Given the description of an element on the screen output the (x, y) to click on. 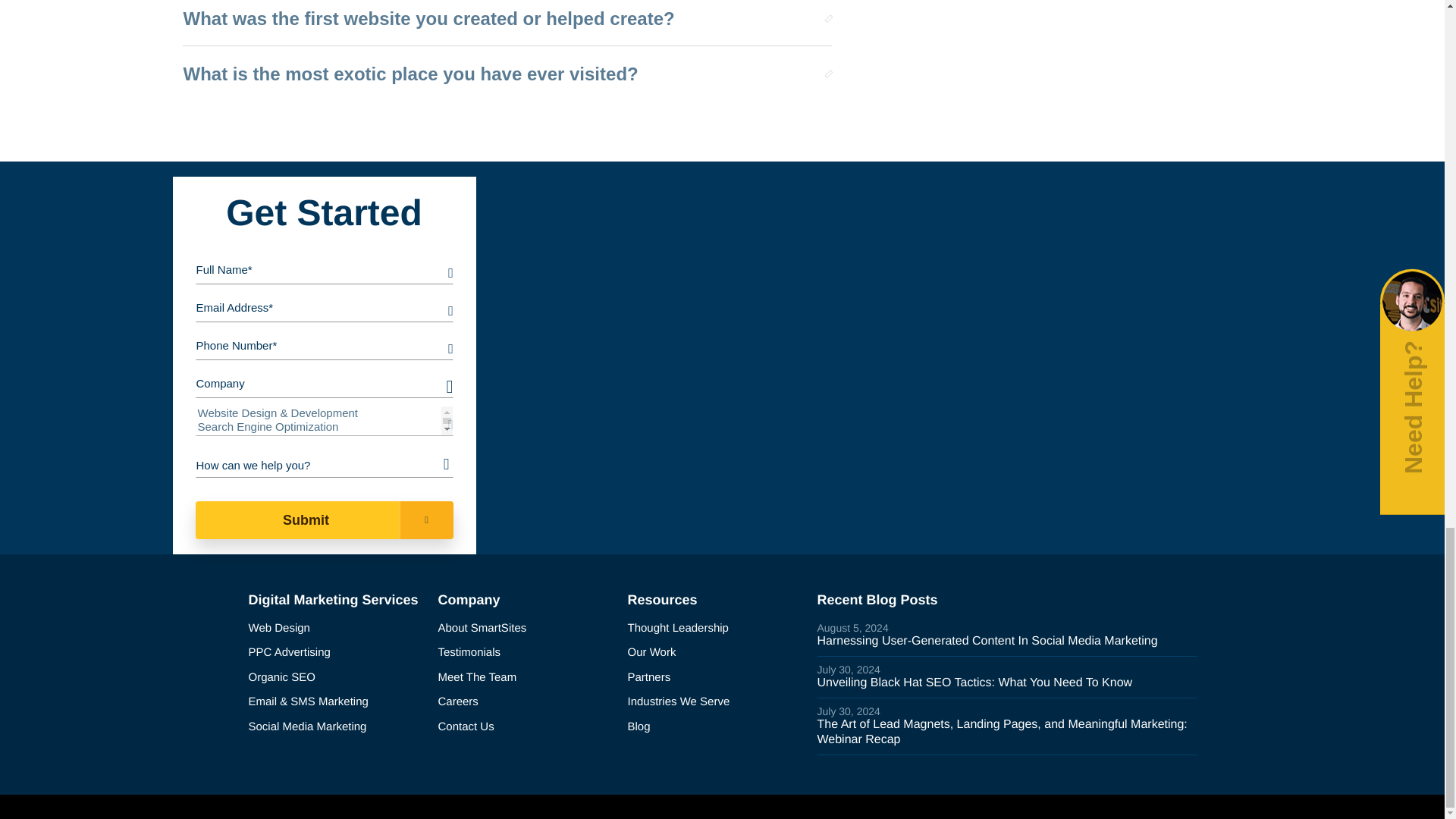
Submit (323, 519)
Social Media Marketing (337, 727)
PPC Advertising (337, 652)
Web Design (337, 628)
About SmartSites (526, 628)
What was the first website you created or helped create? (500, 18)
Submit (323, 519)
Contact Us (526, 727)
Thought Leadership (716, 628)
Organic SEO (337, 678)
